Given the description of an element on the screen output the (x, y) to click on. 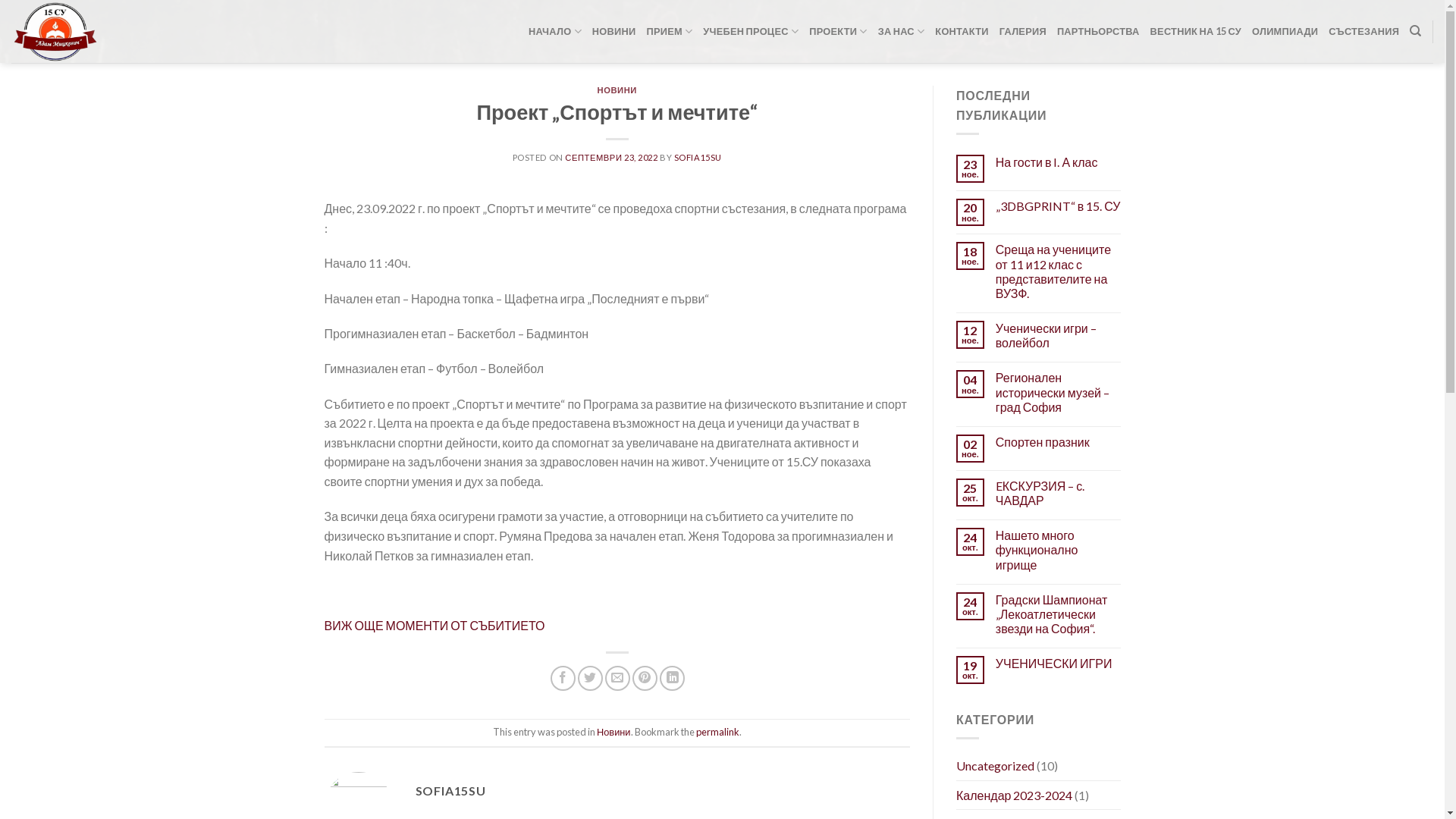
Pin on Pinterest Element type: hover (644, 677)
Email to a Friend Element type: hover (617, 677)
Share on Facebook Element type: hover (562, 677)
Share on LinkedIn Element type: hover (671, 677)
Uncategorized Element type: text (995, 765)
permalink Element type: text (717, 731)
SOFIA15SU Element type: text (697, 157)
Share on Twitter Element type: hover (589, 677)
